Given the description of an element on the screen output the (x, y) to click on. 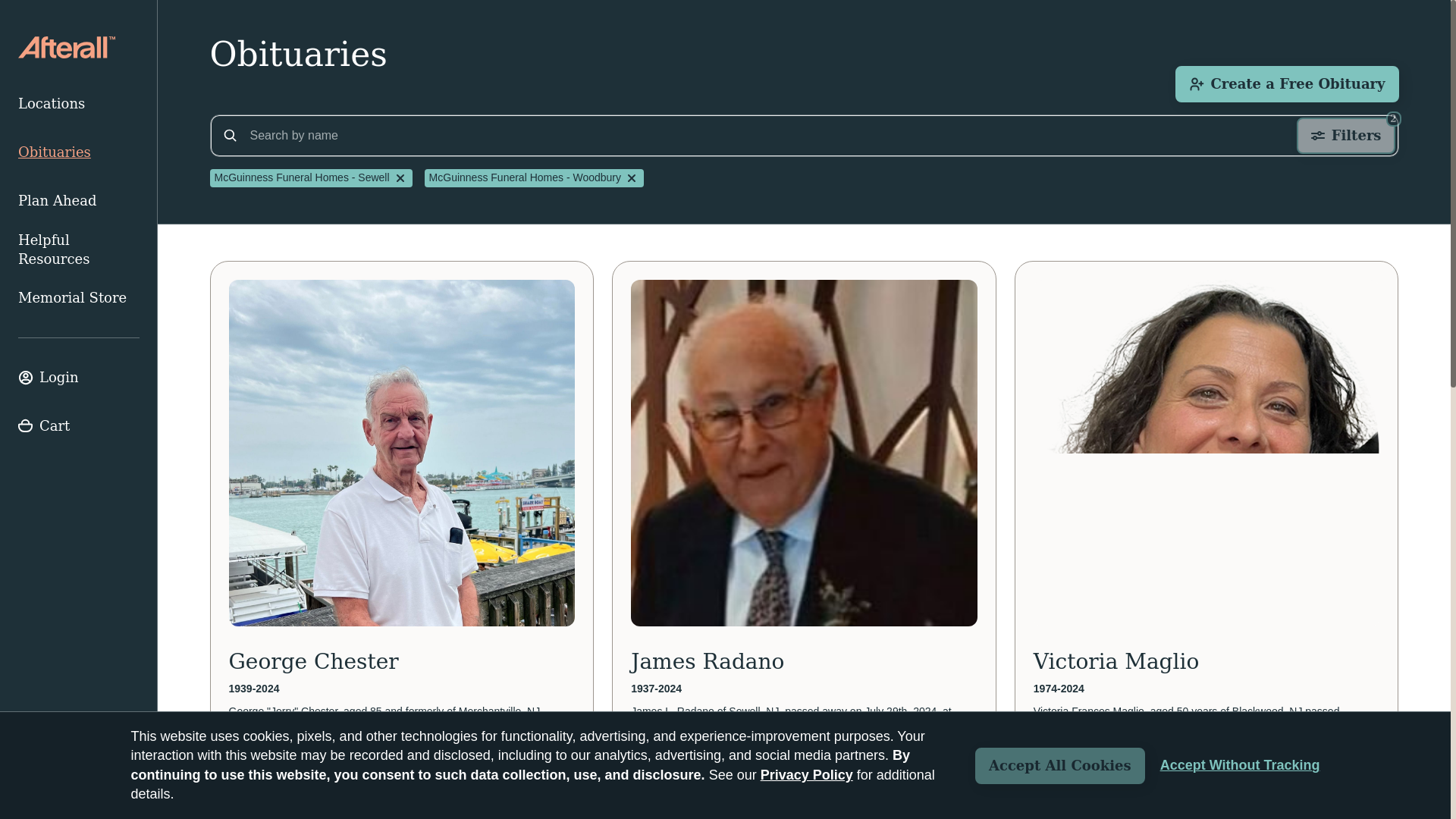
Sign In (78, 377)
Plan Ahead (78, 200)
Helpful Resources (78, 249)
Cart (78, 426)
Locations (78, 103)
Obituaries (78, 151)
Accept All Cookies (1059, 765)
Create a Free Obituary (1285, 84)
Login (78, 377)
View your cart (78, 426)
